Given the description of an element on the screen output the (x, y) to click on. 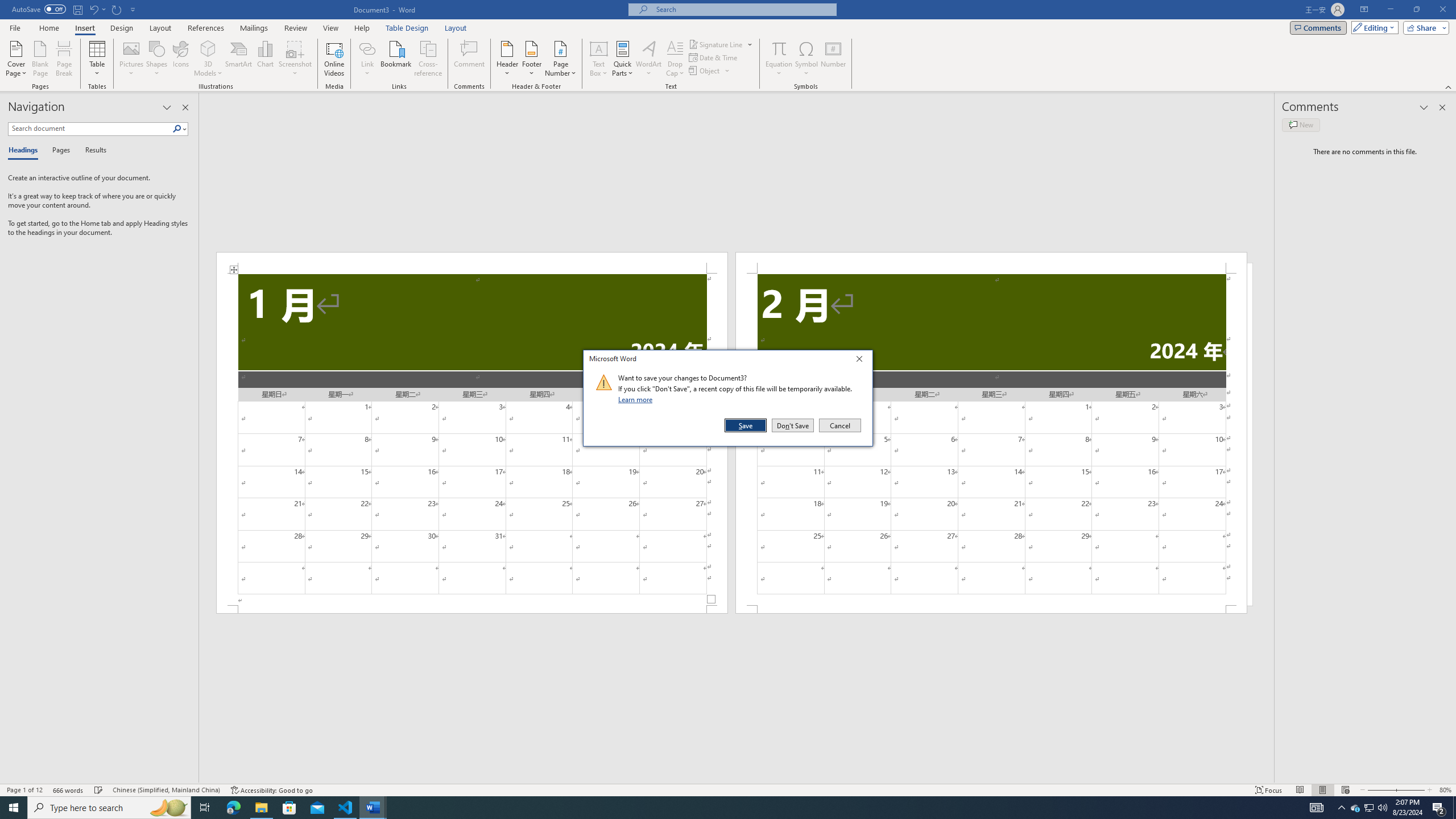
Word - 2 running windows (373, 807)
Link (367, 58)
Visual Studio Code - 1 running window (345, 807)
Quick Parts (622, 58)
Headings (25, 150)
Comment (469, 58)
User Promoted Notification Area (1368, 807)
Cross-reference... (428, 58)
Header -Section 1- (471, 263)
Blank Page (40, 58)
Q2790: 100% (1382, 807)
